Given the description of an element on the screen output the (x, y) to click on. 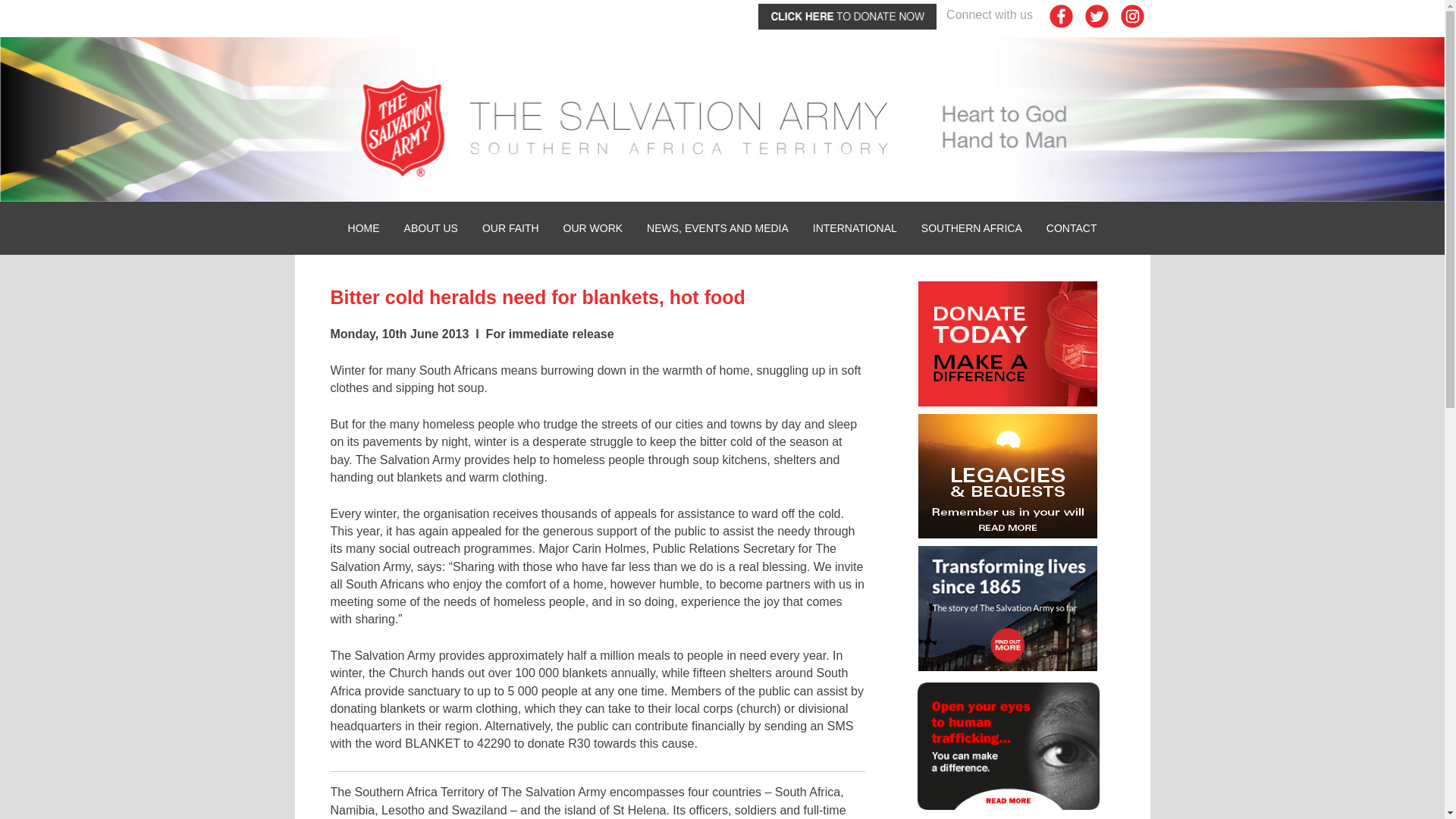
OUR FAITH (510, 227)
OUR WORK (592, 227)
ABOUT US (430, 227)
NEWS, EVENTS AND MEDIA (717, 227)
HOME (363, 227)
